Given the description of an element on the screen output the (x, y) to click on. 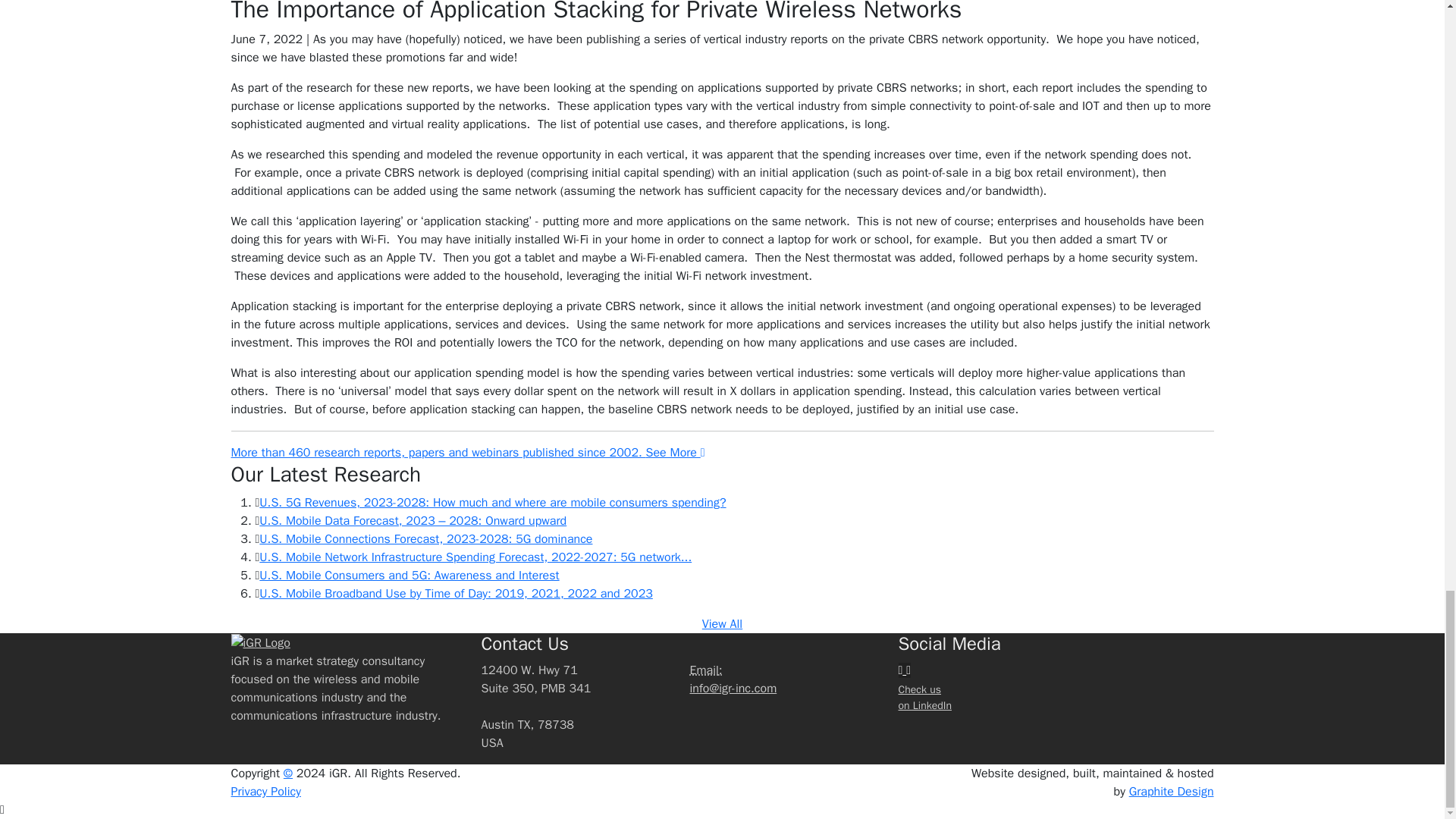
Email Address (706, 670)
